Given the description of an element on the screen output the (x, y) to click on. 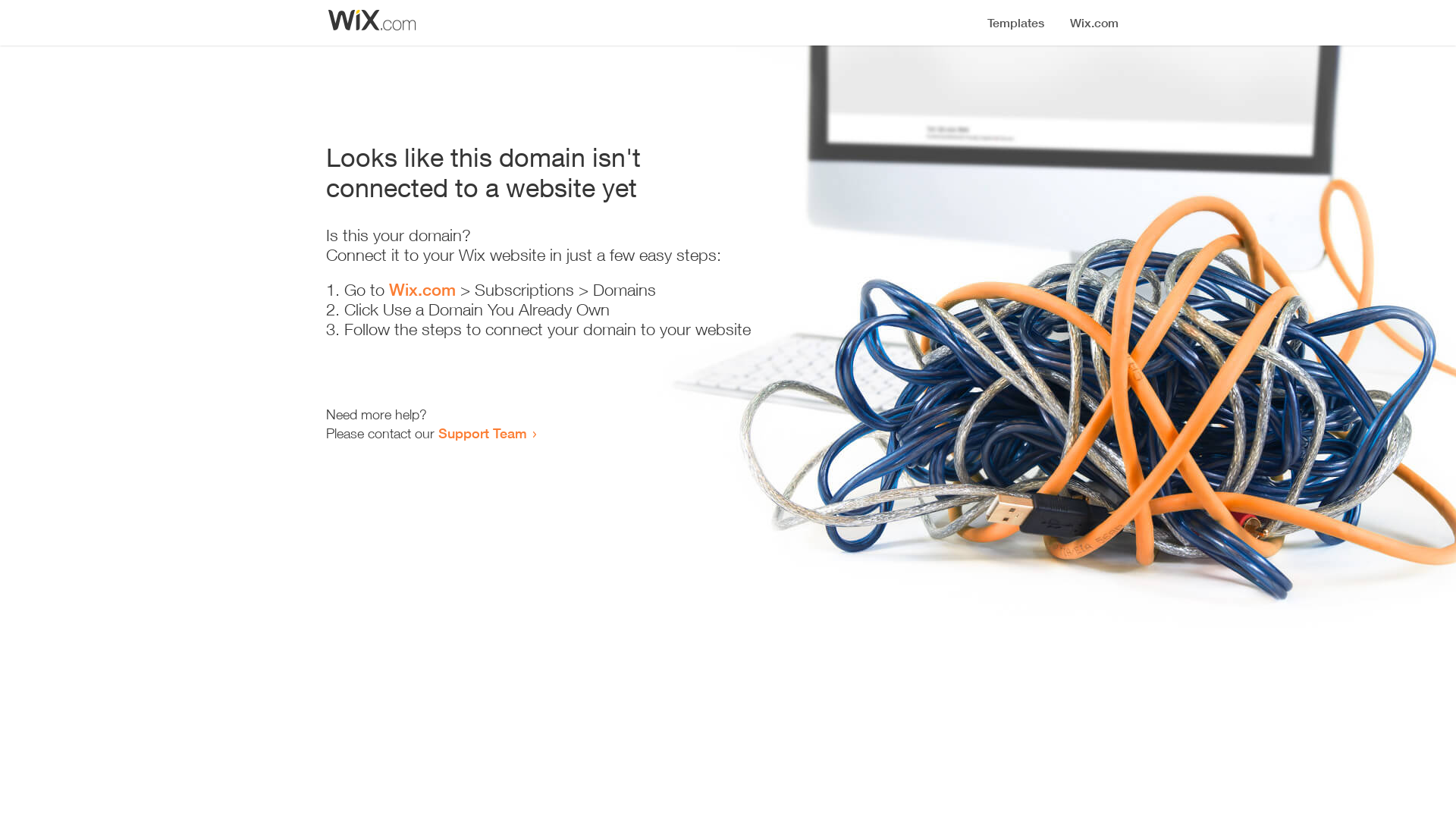
Support Team Element type: text (482, 432)
Wix.com Element type: text (422, 289)
